Given the description of an element on the screen output the (x, y) to click on. 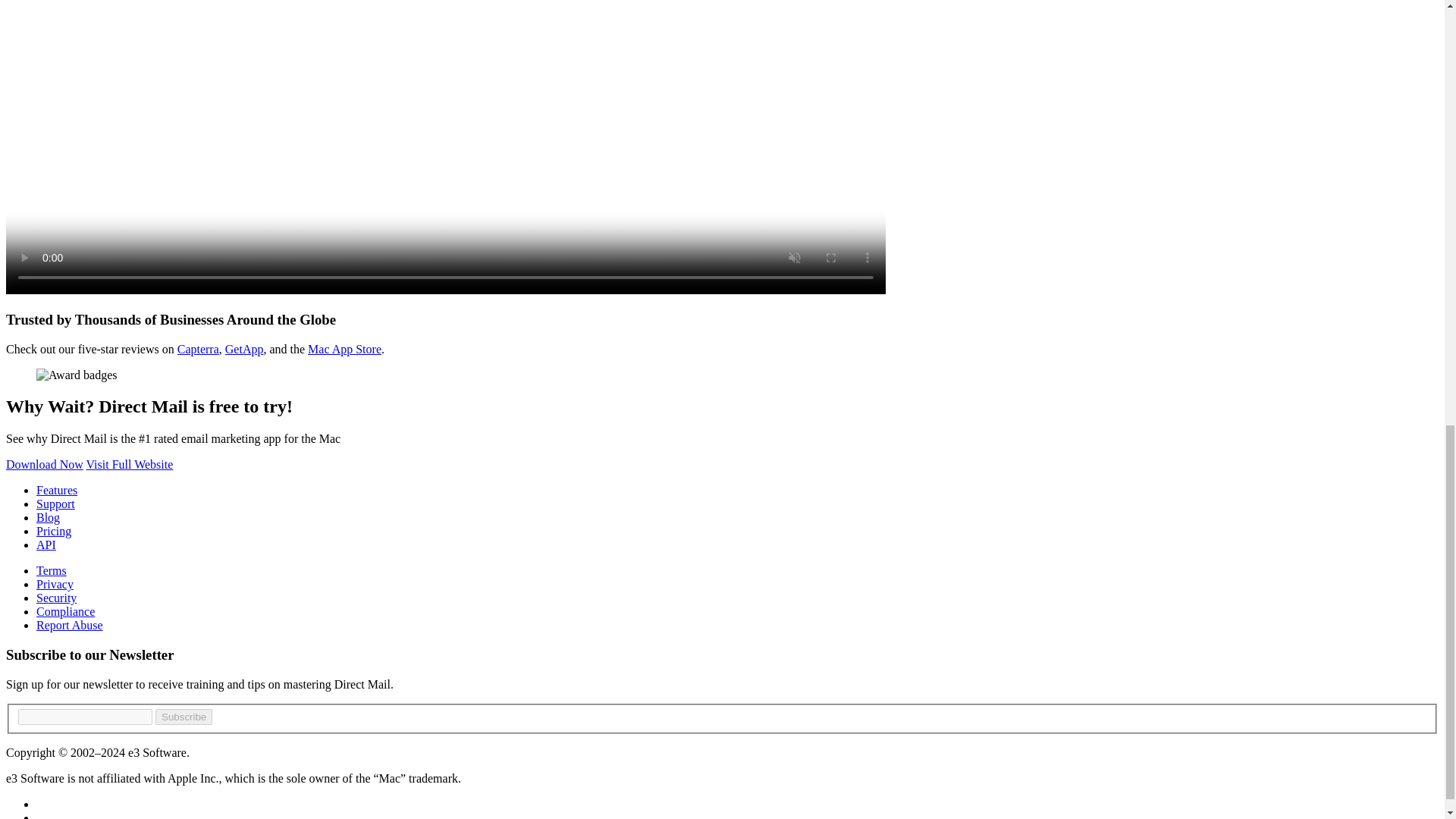
Subscribe (183, 716)
Privacy (55, 584)
Blog (47, 517)
Compliance (65, 611)
Support (55, 503)
Mac App Store (344, 349)
Security (56, 597)
Capterra (198, 349)
Visit Full Website (129, 463)
Download Now (43, 463)
Subscribe (183, 716)
Pricing (53, 530)
API (46, 544)
Report Abuse (69, 625)
Terms (51, 570)
